Given the description of an element on the screen output the (x, y) to click on. 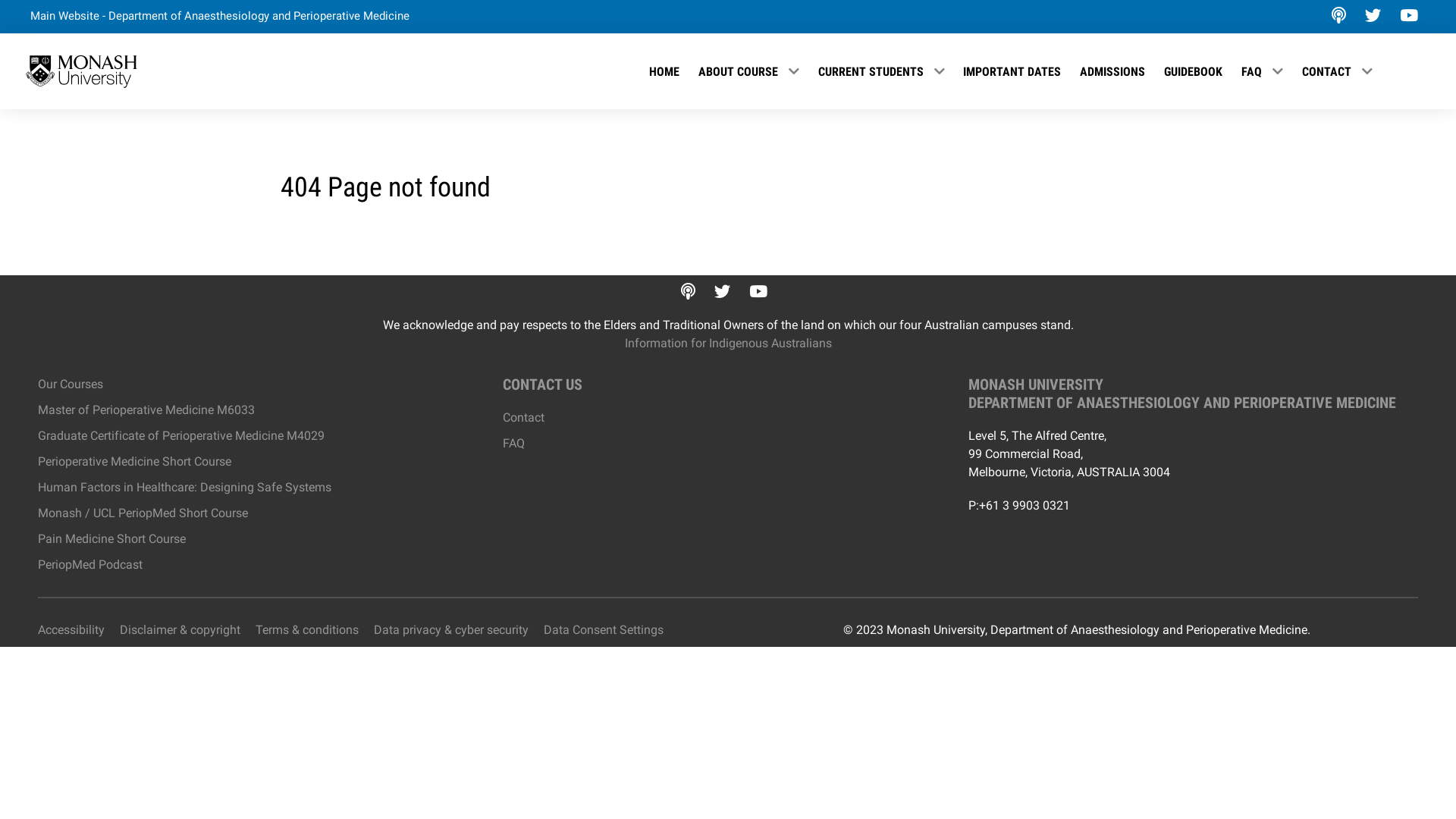
FAQ Element type: text (1261, 70)
Monash University Element type: hover (81, 71)
Information for Indigenous Australians Element type: text (727, 342)
Terms & conditions Element type: text (306, 630)
ADMISSIONS Element type: text (1112, 70)
FAQ Element type: text (513, 443)
Data privacy & cyber security Element type: text (450, 630)
Monash / UCL PeriopMed Short Course Element type: text (142, 512)
Human Factors in Healthcare: Designing Safe Systems Element type: text (184, 487)
Accessibility Element type: text (70, 630)
IMPORTANT DATES Element type: text (1011, 70)
Graduate Certificate of Perioperative Medicine M4029 Element type: text (180, 435)
Our Courses Element type: text (70, 383)
Master of Perioperative Medicine M6033 Element type: text (145, 409)
Pain Medicine Short Course Element type: text (111, 538)
ABOUT COURSE Element type: text (749, 70)
Data Consent Settings Element type: text (603, 630)
PeriopMed Podcast Element type: text (89, 564)
CONTACT Element type: text (1336, 70)
GUIDEBOOK Element type: text (1193, 70)
Perioperative Medicine Short Course Element type: text (134, 461)
Contact Element type: text (523, 417)
Disclaimer & copyright Element type: text (179, 630)
HOME Element type: text (664, 70)
